Given the description of an element on the screen output the (x, y) to click on. 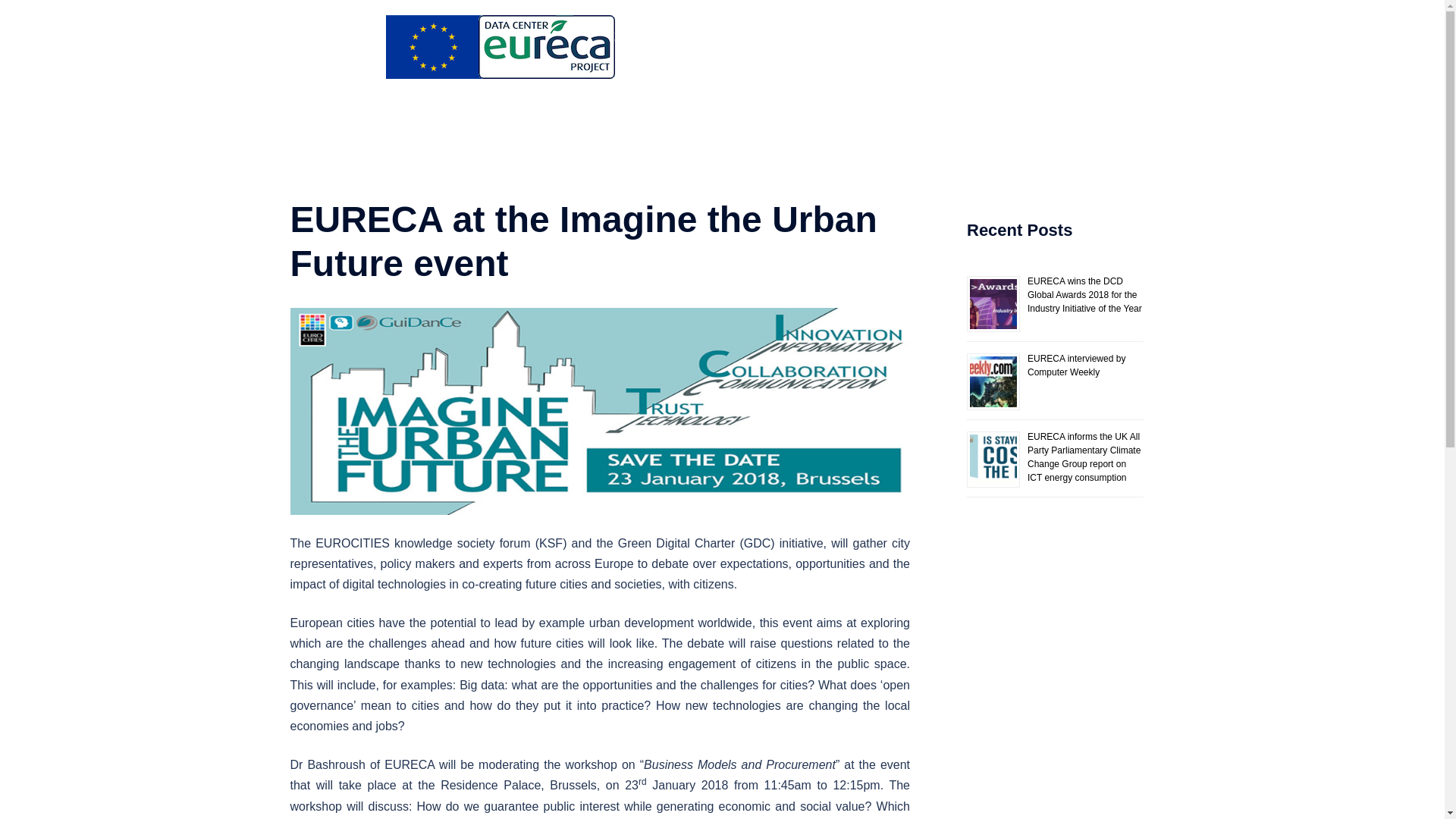
News (1119, 49)
Login (933, 67)
Tool (1074, 49)
EURECA interviewed by Computer Weekly (1076, 364)
Market Directory (1005, 49)
EURECA (499, 51)
Training (925, 49)
Events (869, 49)
About (818, 49)
Home (769, 49)
